Given the description of an element on the screen output the (x, y) to click on. 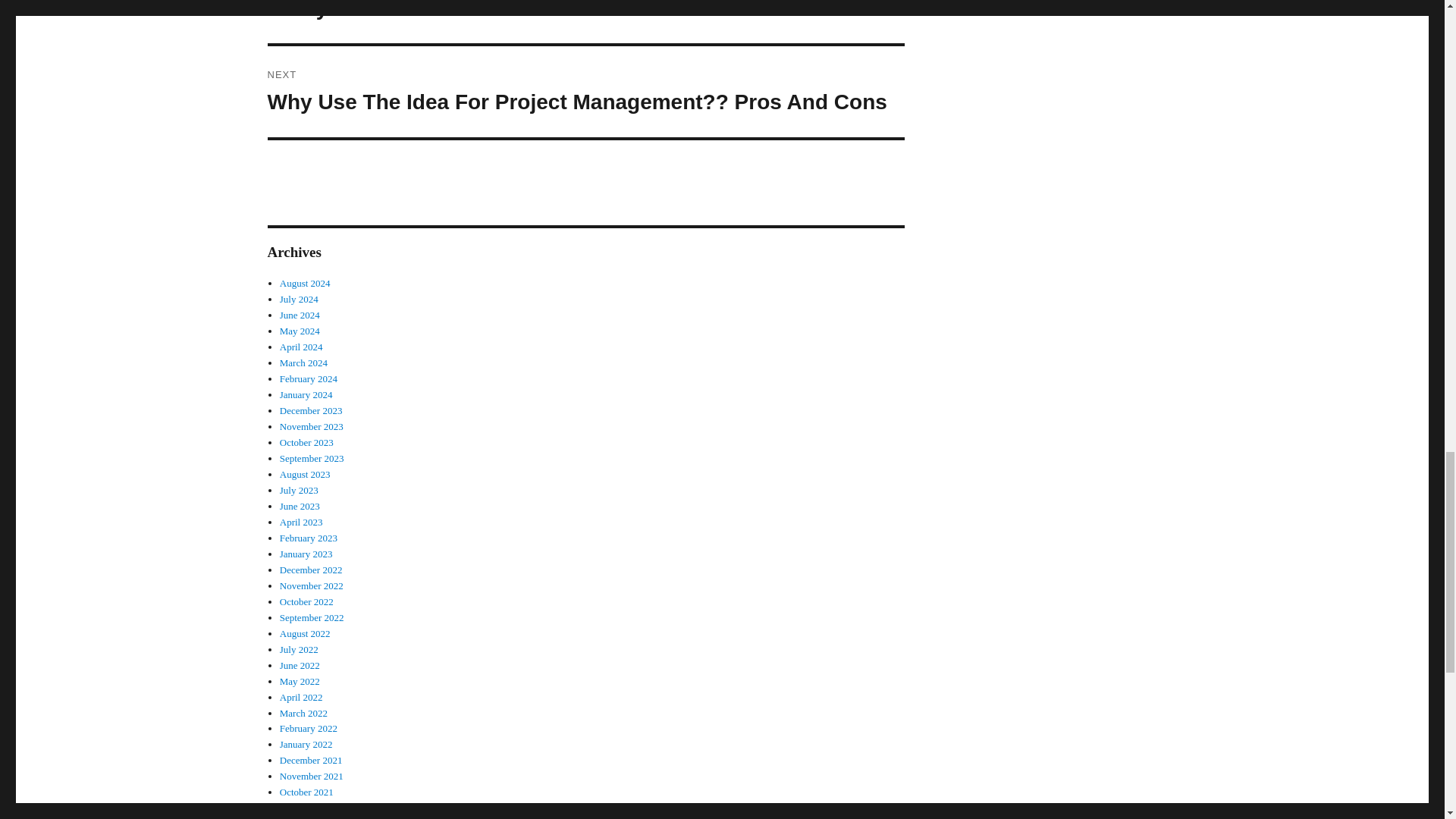
June 2024 (299, 315)
May 2024 (299, 330)
April 2024 (301, 346)
November 2022 (311, 585)
January 2024 (306, 394)
August 2024 (304, 283)
August 2023 (304, 473)
December 2022 (310, 569)
February 2023 (308, 537)
